Given the description of an element on the screen output the (x, y) to click on. 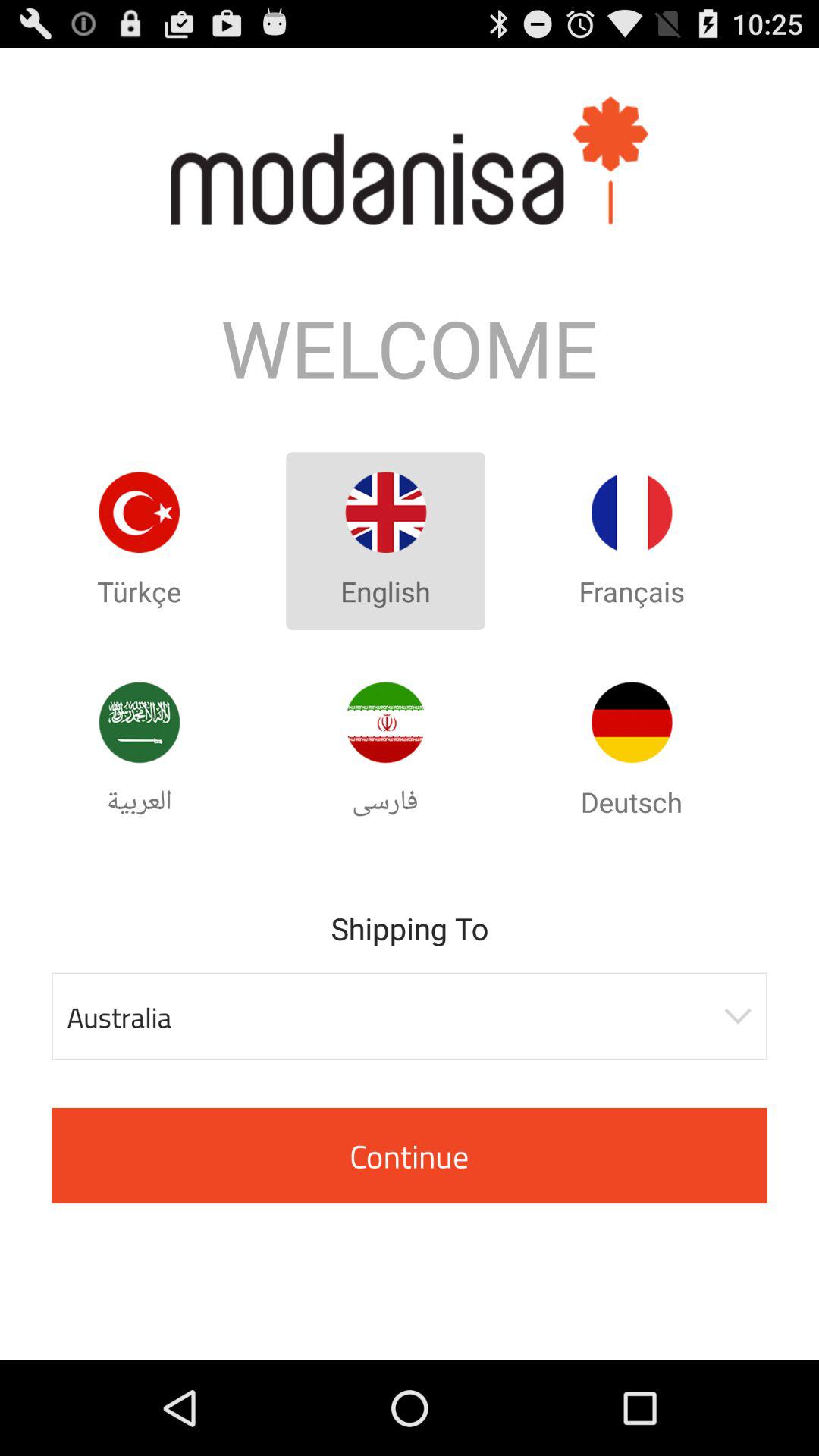
switch language to arabic (138, 722)
